Given the description of an element on the screen output the (x, y) to click on. 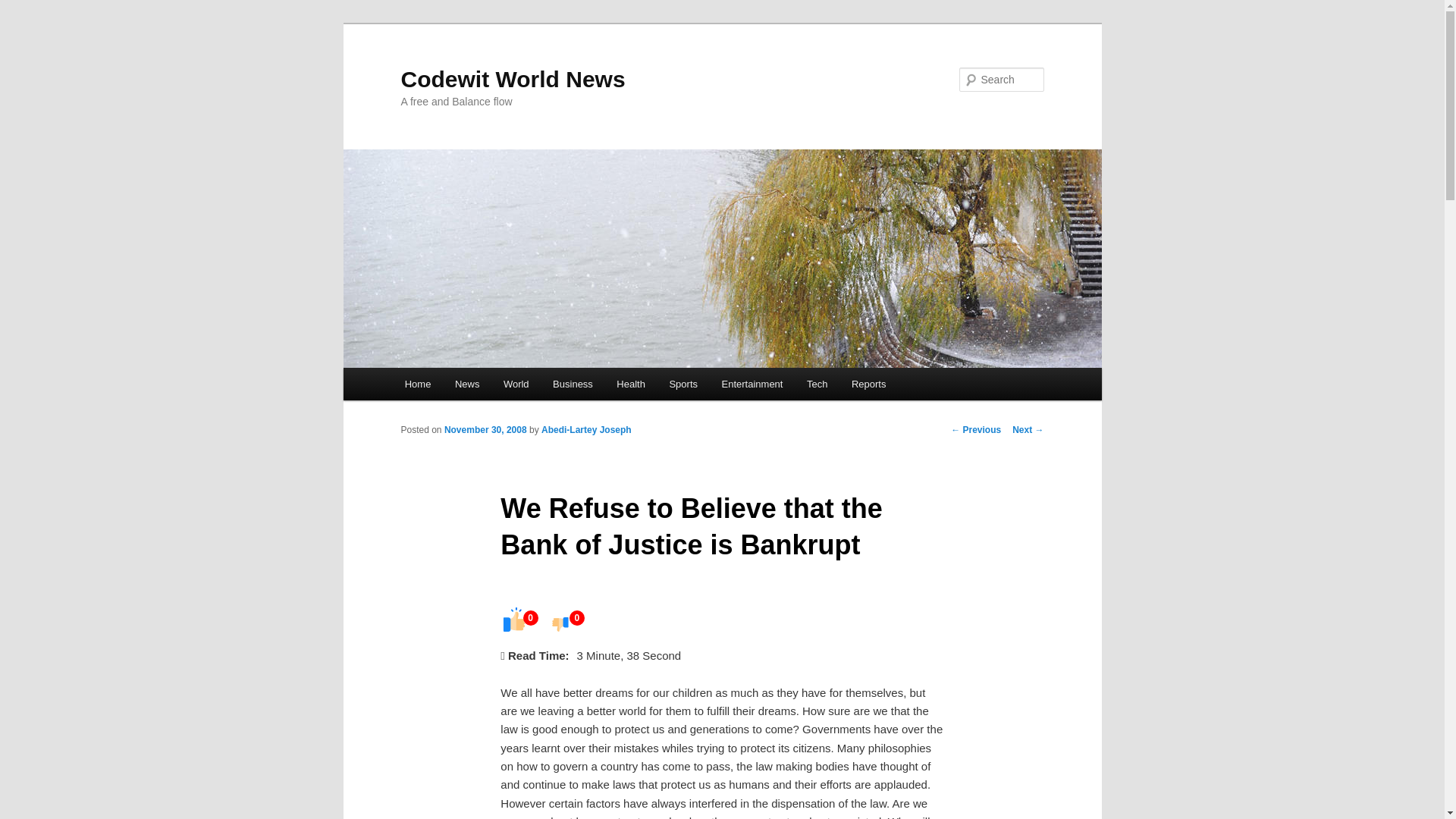
Business (572, 383)
Home (417, 383)
Sports (684, 383)
Entertainment (752, 383)
Health (631, 383)
World (516, 383)
Search (24, 8)
News (467, 383)
Tech (817, 383)
Codewit World News (512, 78)
